Given the description of an element on the screen output the (x, y) to click on. 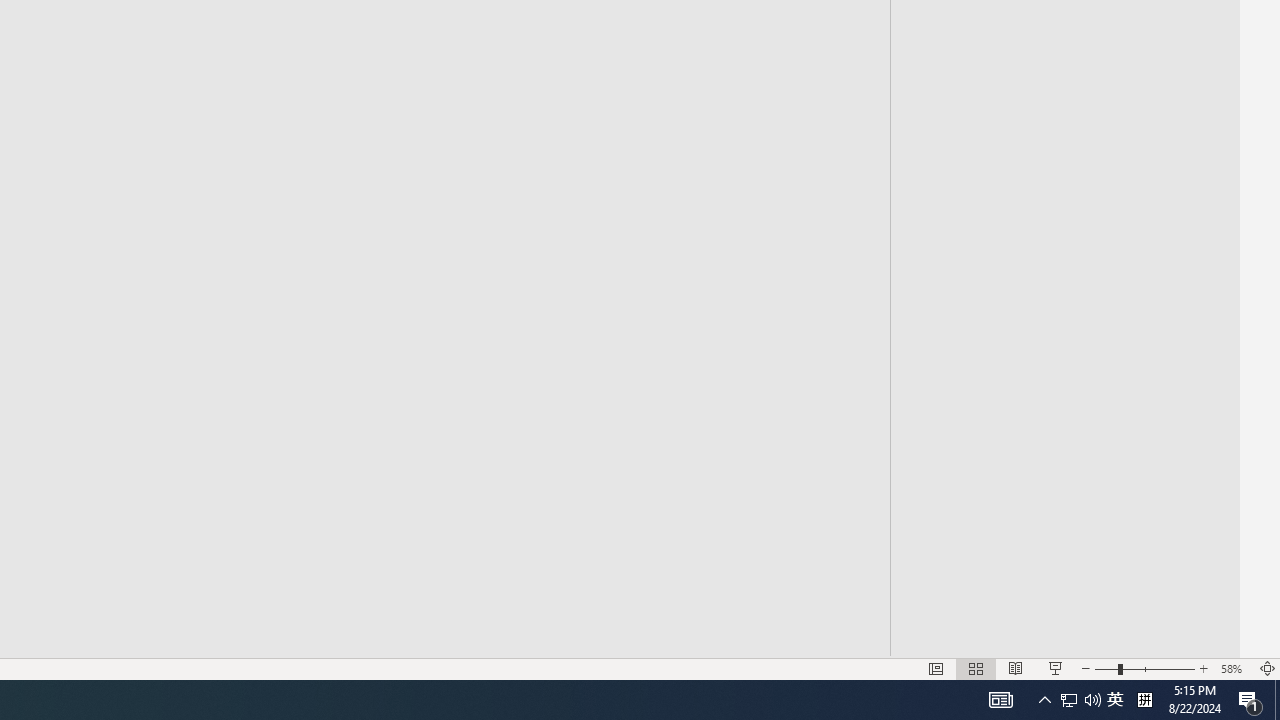
wangyian_dsw - DSW (326, 247)
Earth - Wikipedia (326, 538)
